Given the description of an element on the screen output the (x, y) to click on. 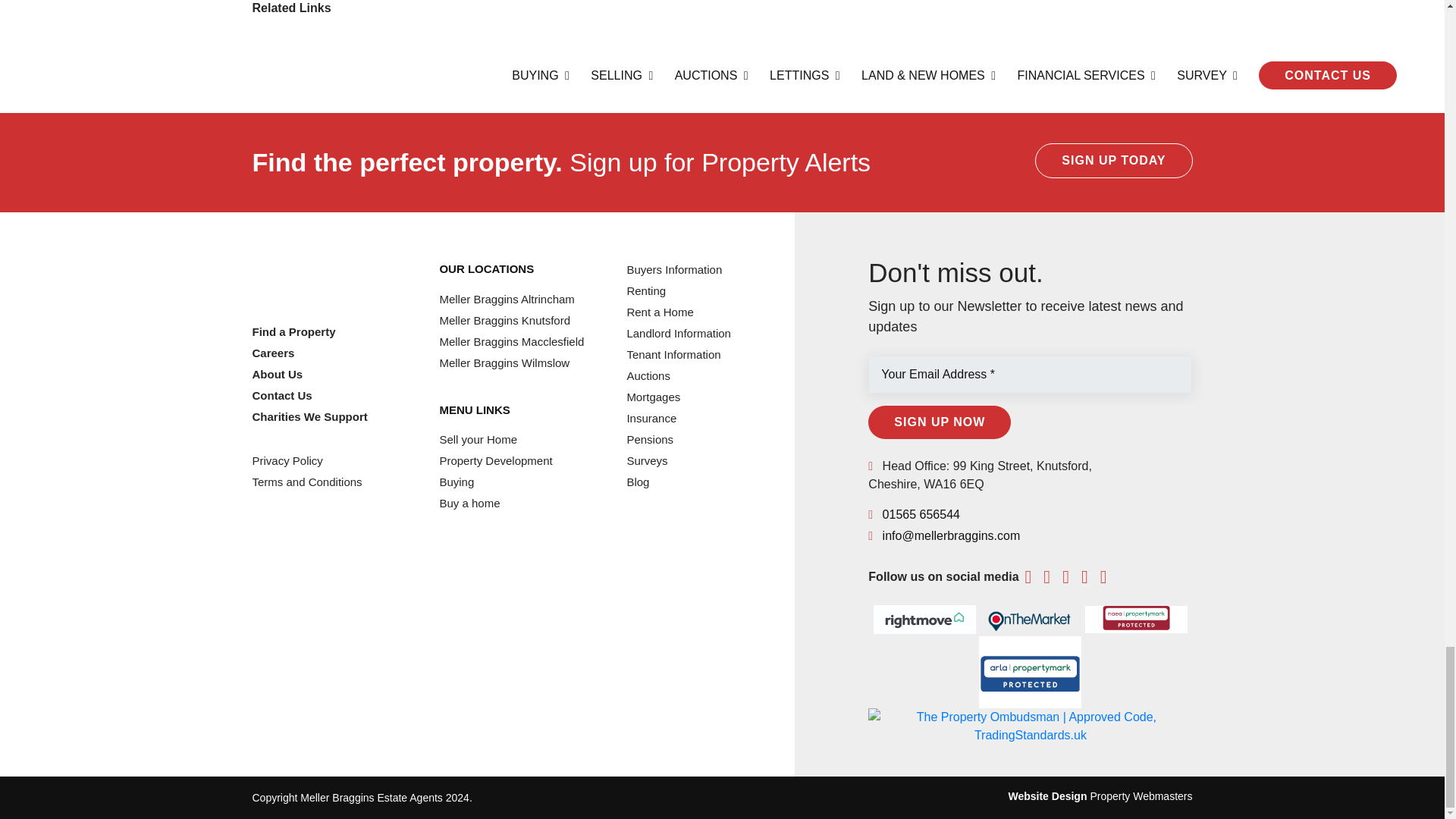
Property Webmasters (1046, 796)
